Given the description of an element on the screen output the (x, y) to click on. 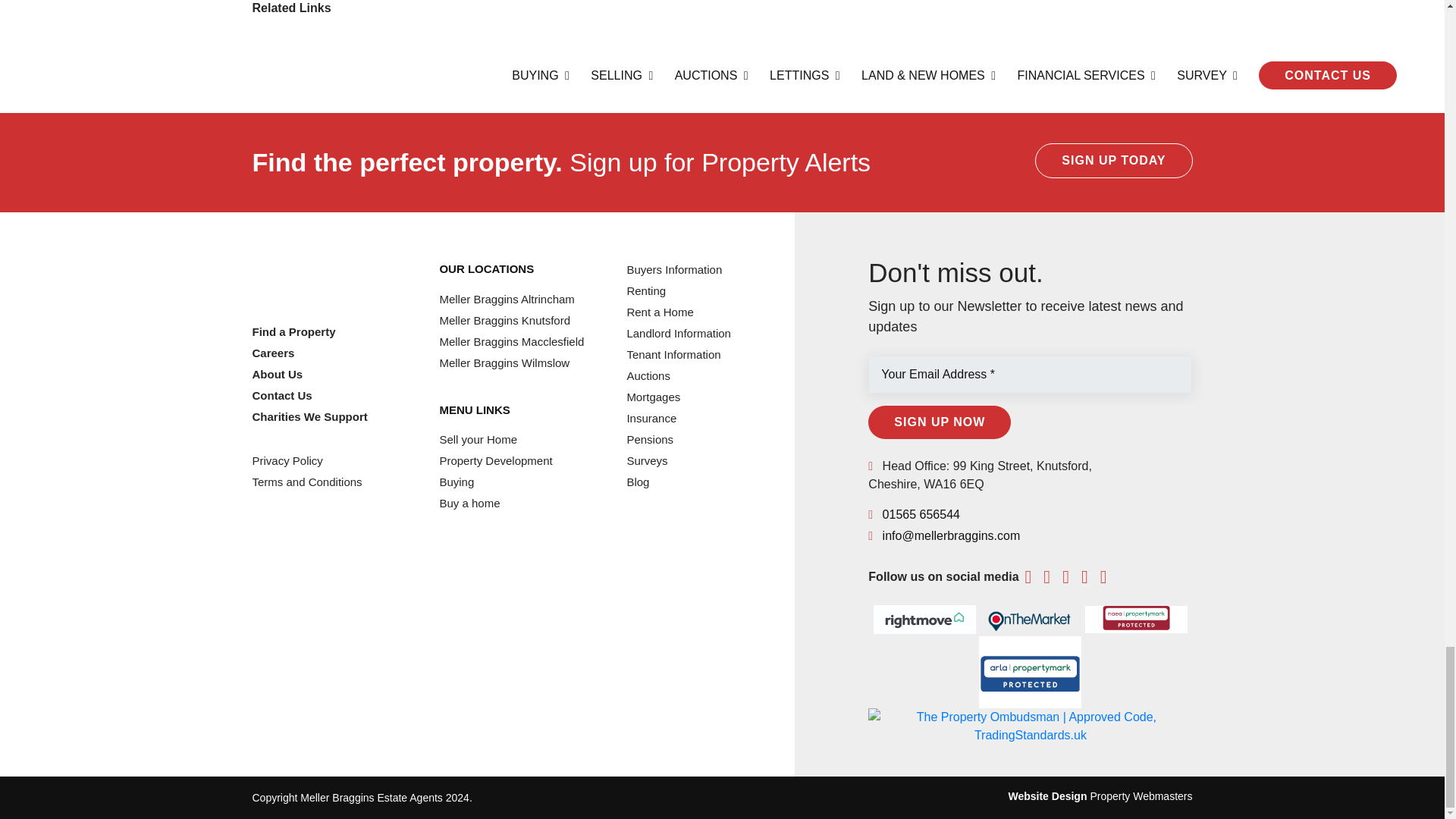
Property Webmasters (1046, 796)
